Given the description of an element on the screen output the (x, y) to click on. 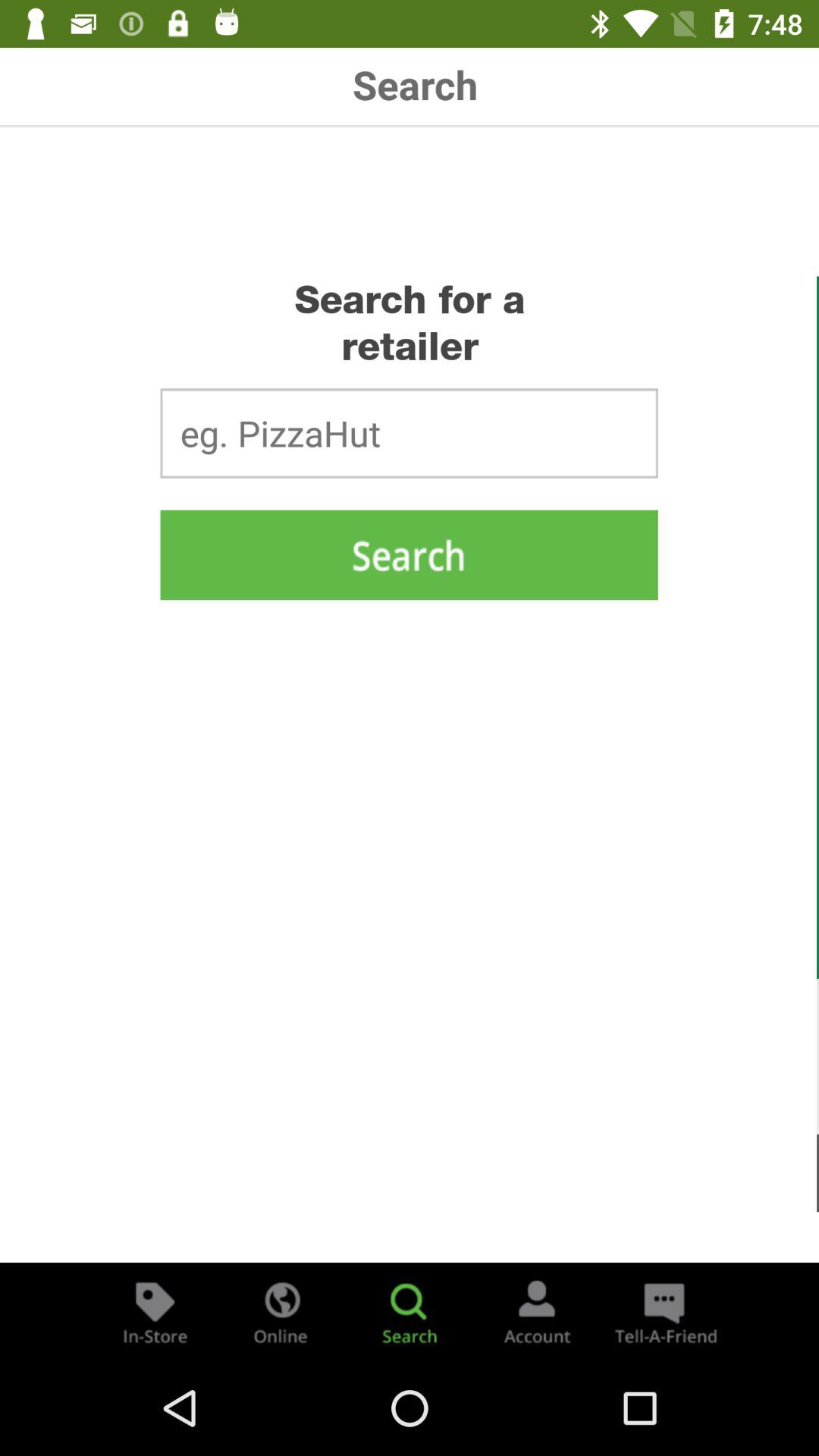
the highlighted area is used to tell the friends in contact list about the application (664, 1311)
